Given the description of an element on the screen output the (x, y) to click on. 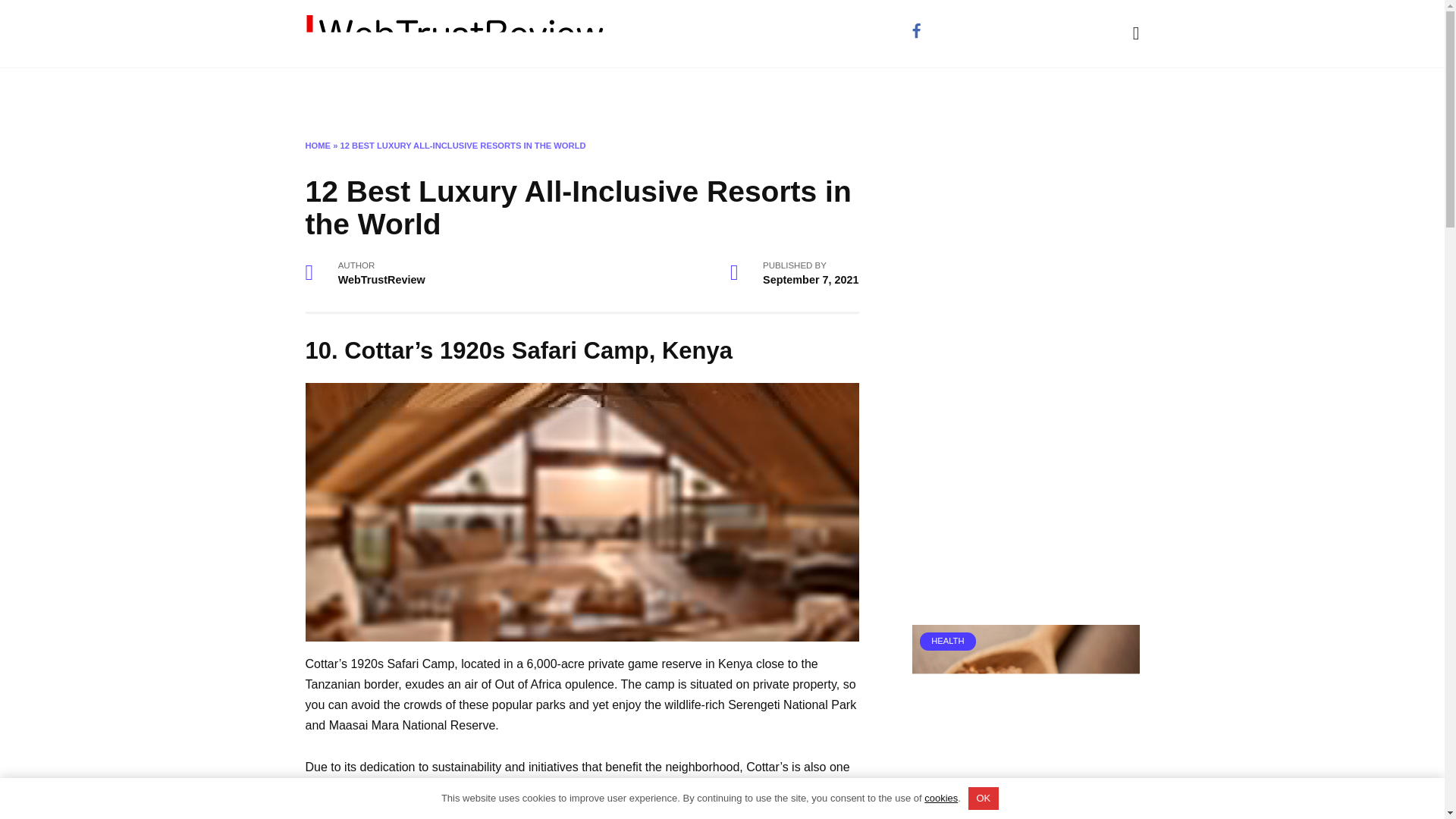
Health (486, 92)
12 BEST LUXURY ALL-INCLUSIVE RESORTS IN THE WORLD (463, 144)
Home (325, 92)
HOME (317, 144)
HEALTH (1024, 764)
Travel (426, 92)
Services (552, 92)
Life (375, 92)
Tech (613, 92)
Top 10 Health Benefits of Flax Seeds (1005, 802)
